Given the description of an element on the screen output the (x, y) to click on. 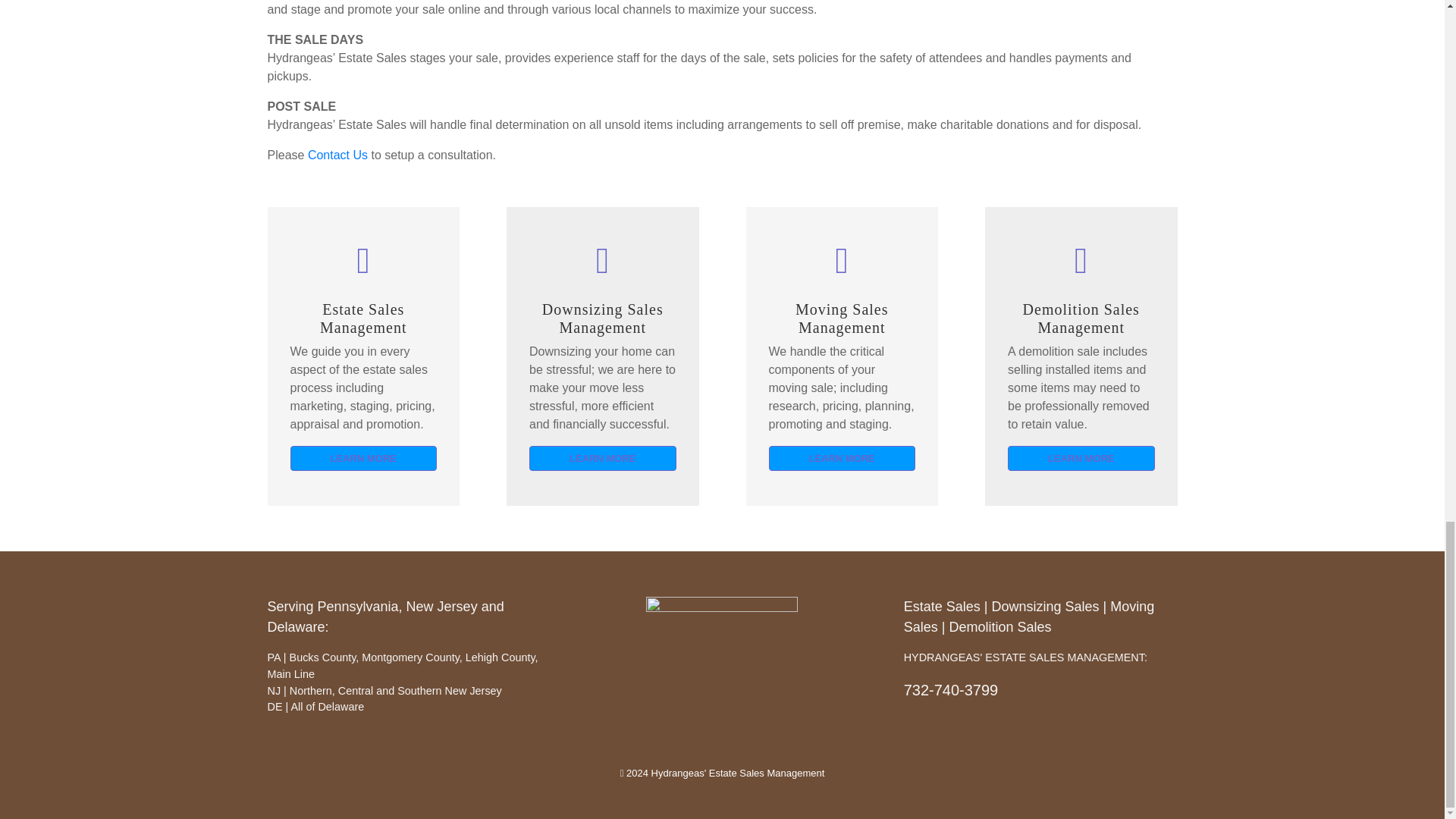
LEARN MORE (362, 458)
LEARN MORE (1080, 458)
Contact Us (337, 154)
LEARN MORE (603, 458)
LEARN MORE (841, 458)
